Given the description of an element on the screen output the (x, y) to click on. 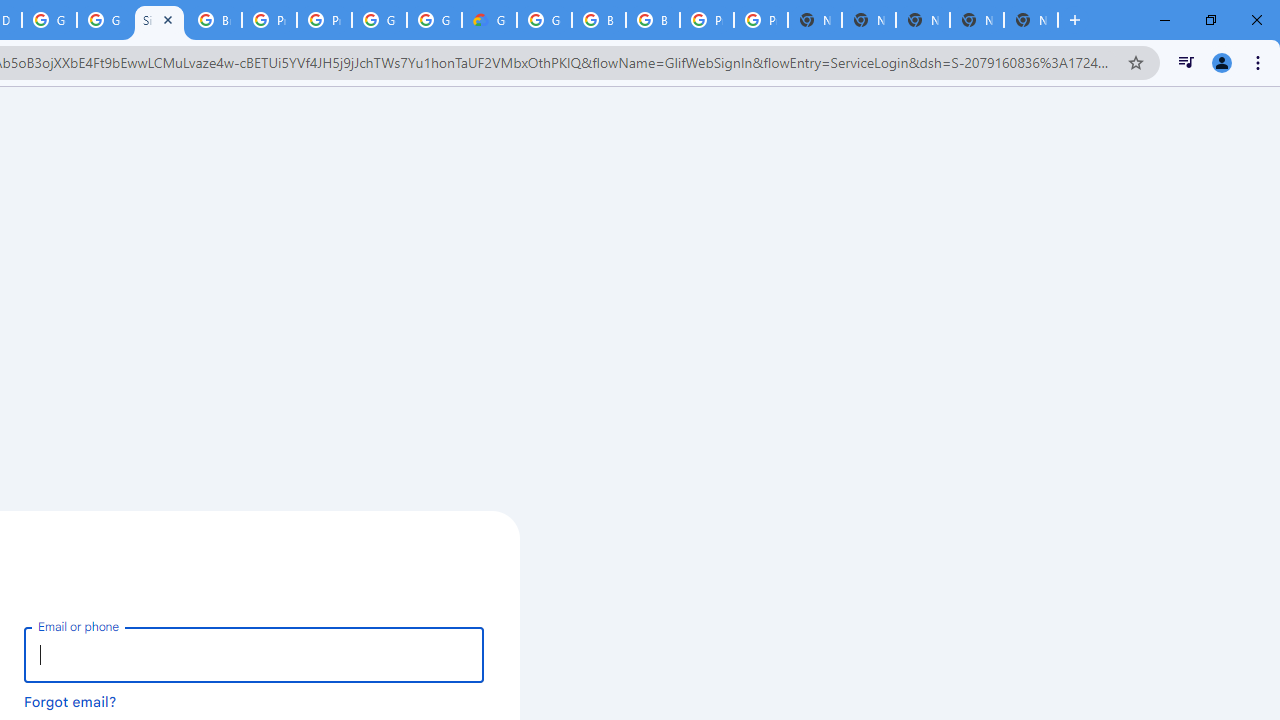
New Tab (1030, 20)
Google Cloud Platform (544, 20)
Google Cloud Platform (48, 20)
Google Cloud Estimate Summary (489, 20)
Sign in - Google Accounts (158, 20)
Email or phone (253, 654)
Browse Chrome as a guest - Computer - Google Chrome Help (598, 20)
Google Cloud Platform (379, 20)
